Given the description of an element on the screen output the (x, y) to click on. 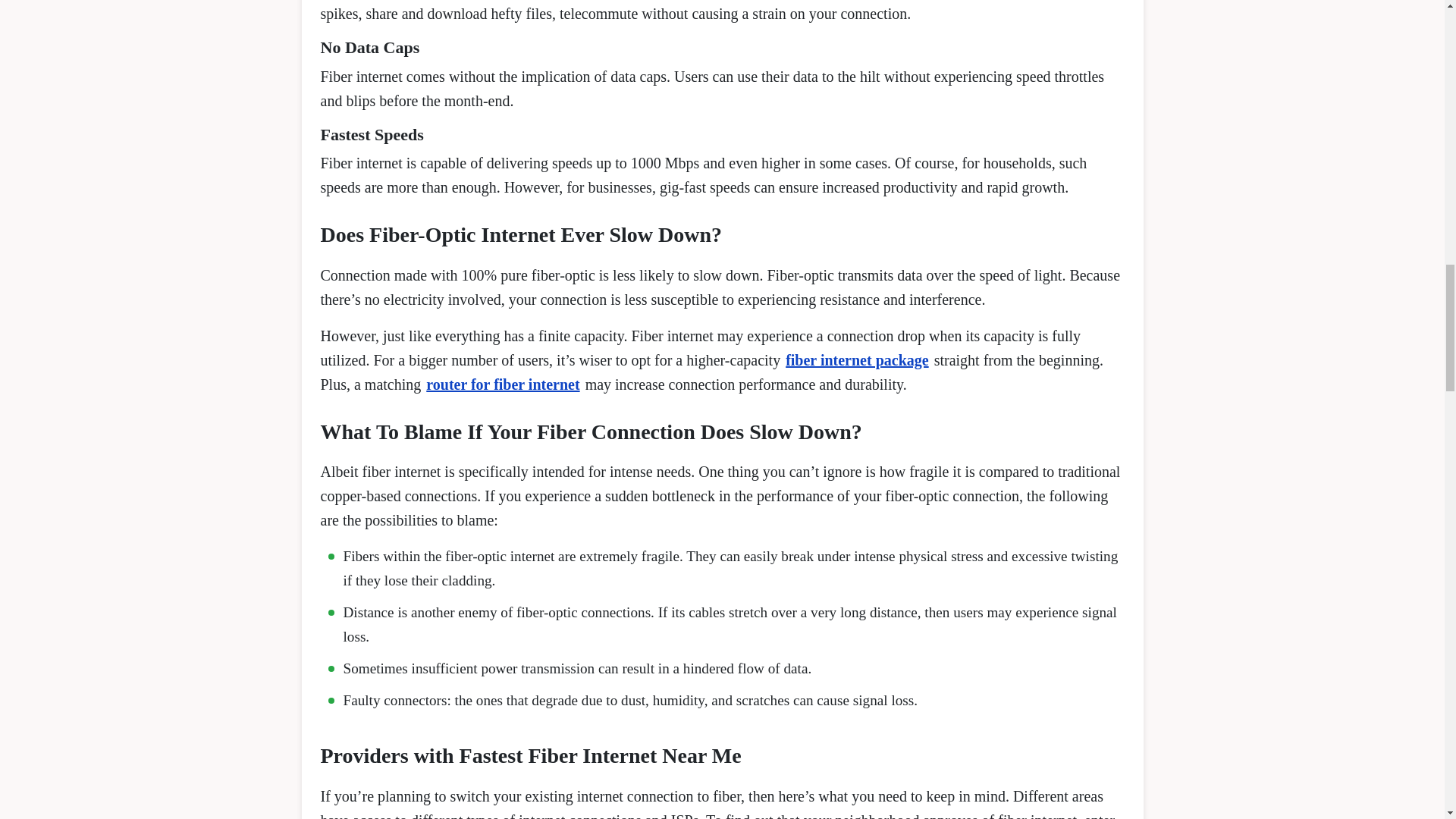
router for fiber internet (502, 384)
fiber internet package (857, 360)
